Given the description of an element on the screen output the (x, y) to click on. 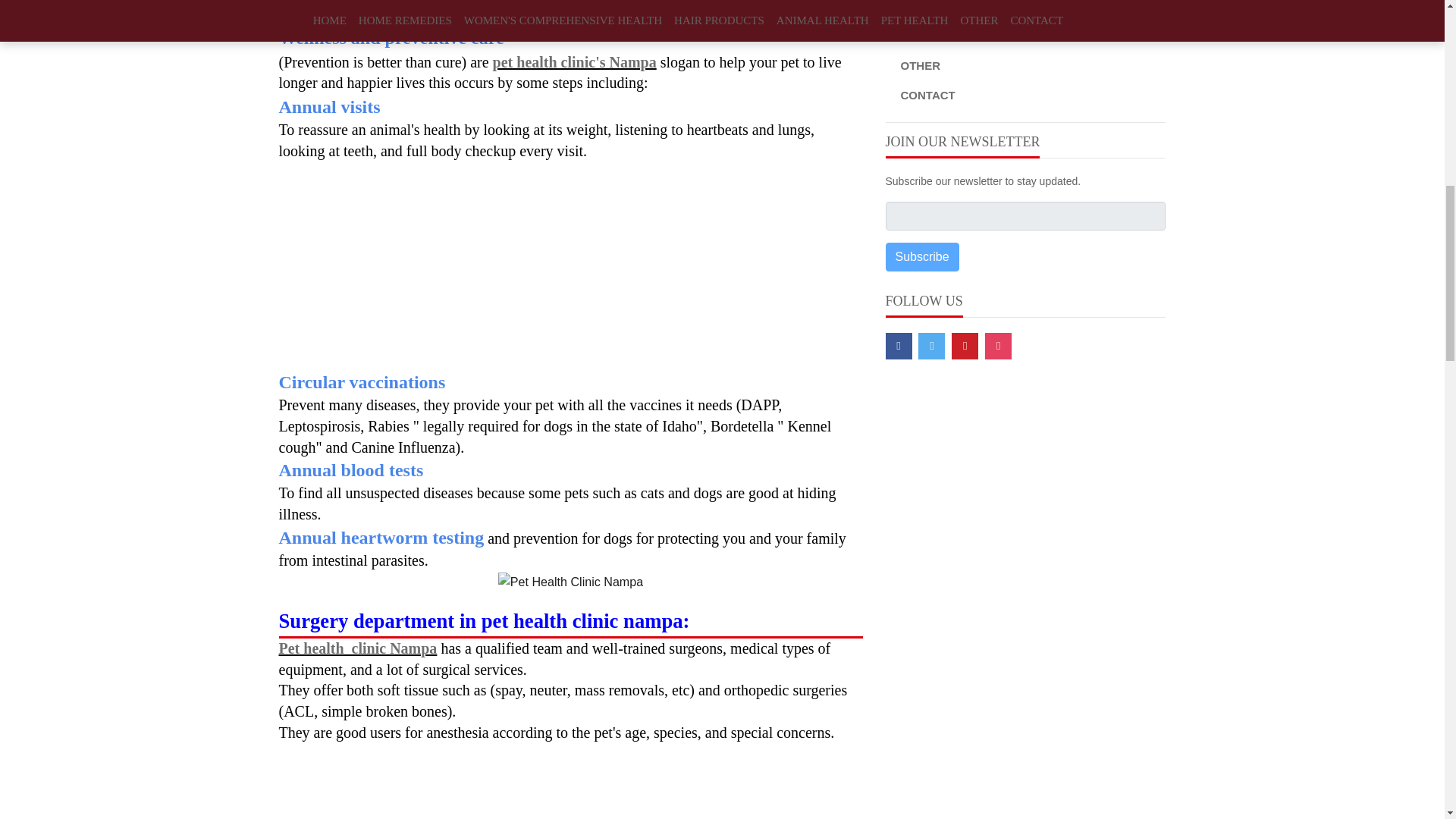
pet health clinic's Nampa (574, 62)
Pet health  clinic Nampa (358, 647)
Pet Health Clinic Nampa (570, 581)
Subscribe (922, 256)
